Given the description of an element on the screen output the (x, y) to click on. 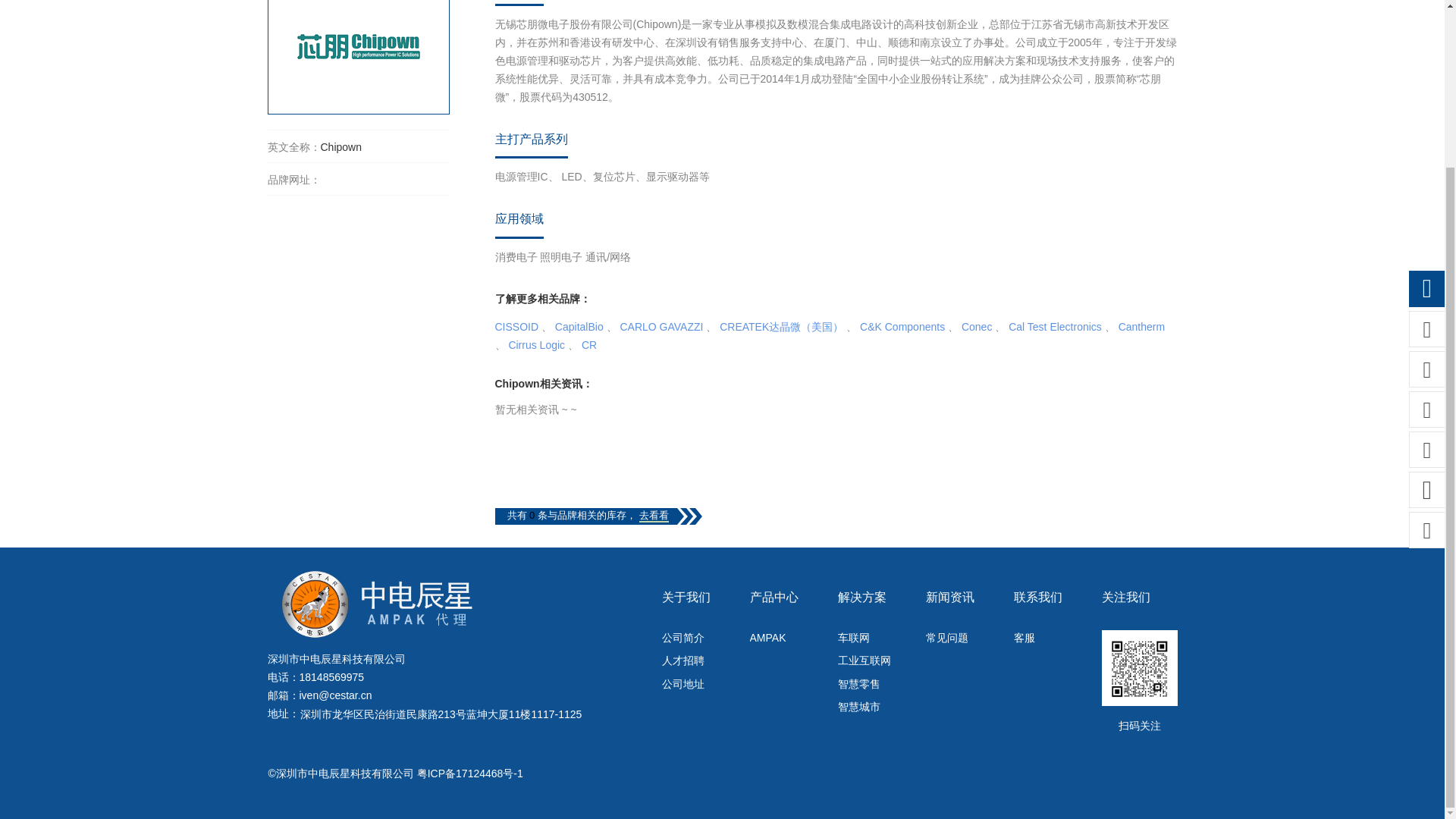
Cal Test Electronics (1055, 326)
AMPAK (787, 638)
CISSOID (516, 326)
CR (588, 345)
Cirrus Logic (536, 345)
Cantherm (1141, 326)
CapitalBio (579, 326)
Conec (975, 326)
CARLO GAVAZZI (661, 326)
